Given the description of an element on the screen output the (x, y) to click on. 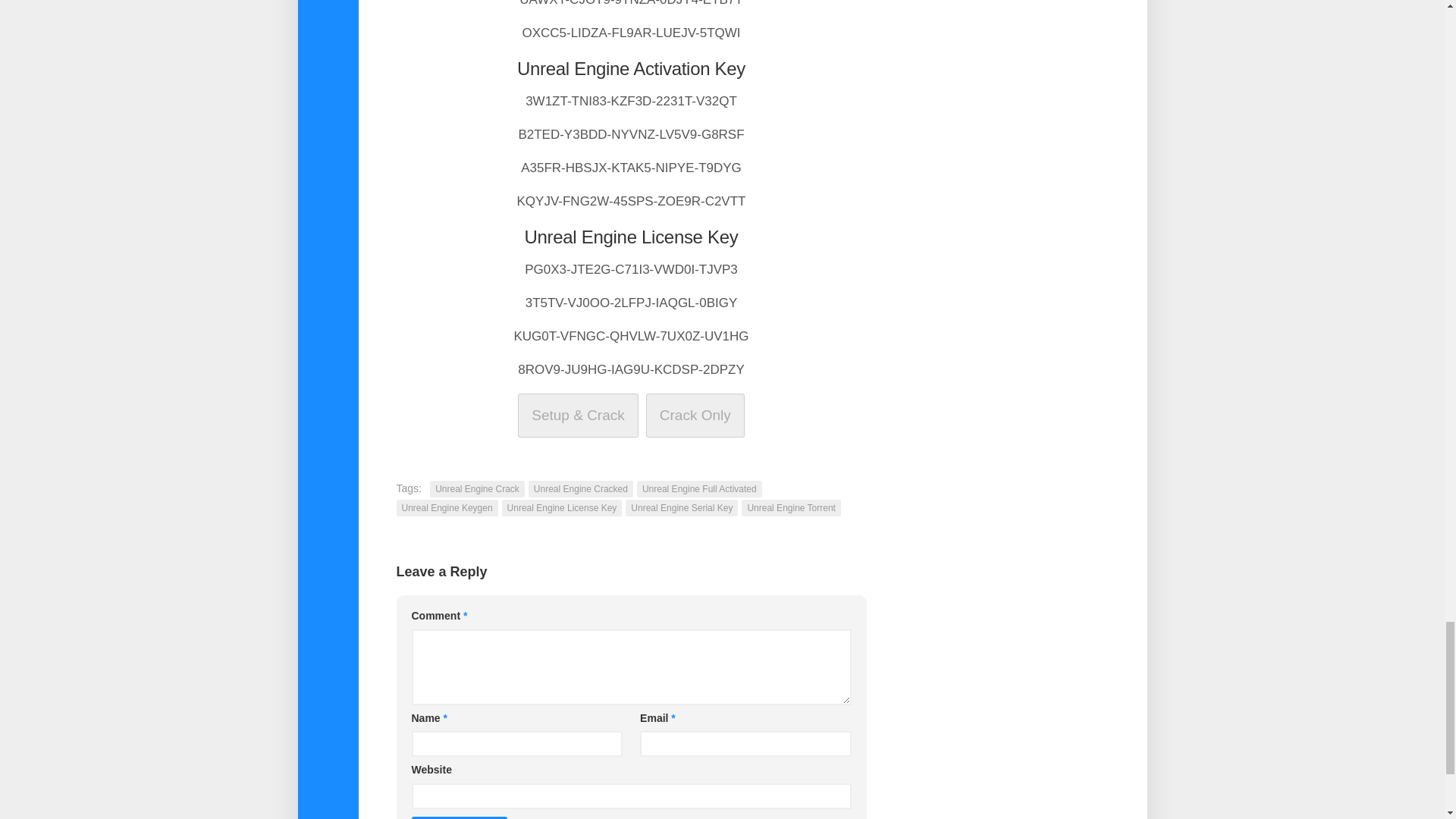
Crack Only (695, 414)
Post Comment (458, 817)
Unreal Engine Full Activated (699, 488)
Unreal Engine Serial Key (682, 506)
Post Comment (458, 817)
Unreal Engine Crack (476, 488)
Unreal Engine Torrent (791, 506)
Unreal Engine License Key (562, 506)
Unreal Engine Cracked (580, 488)
Unreal Engine Keygen (446, 506)
